Given the description of an element on the screen output the (x, y) to click on. 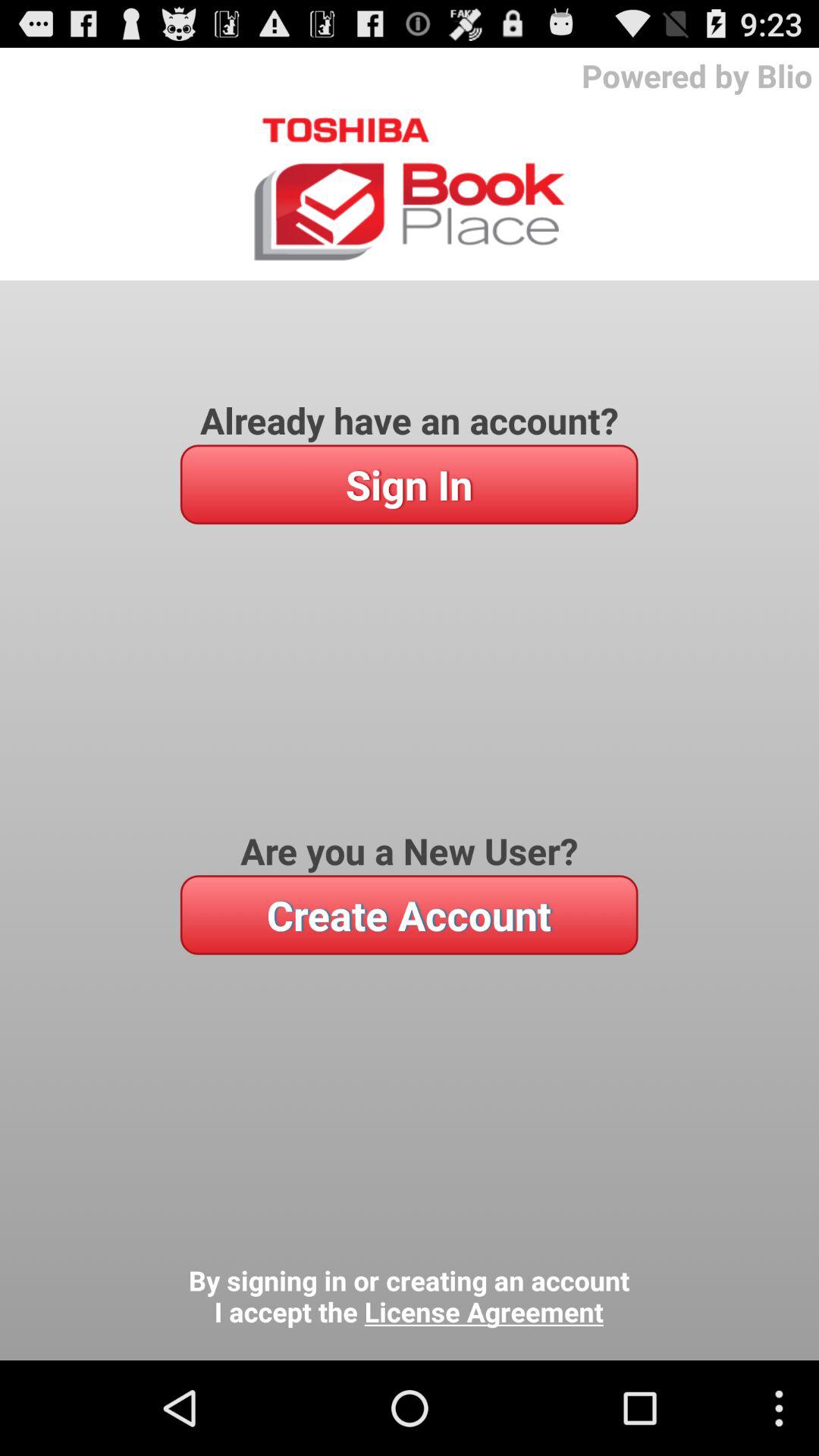
tap the by signing in (408, 1296)
